Given the description of an element on the screen output the (x, y) to click on. 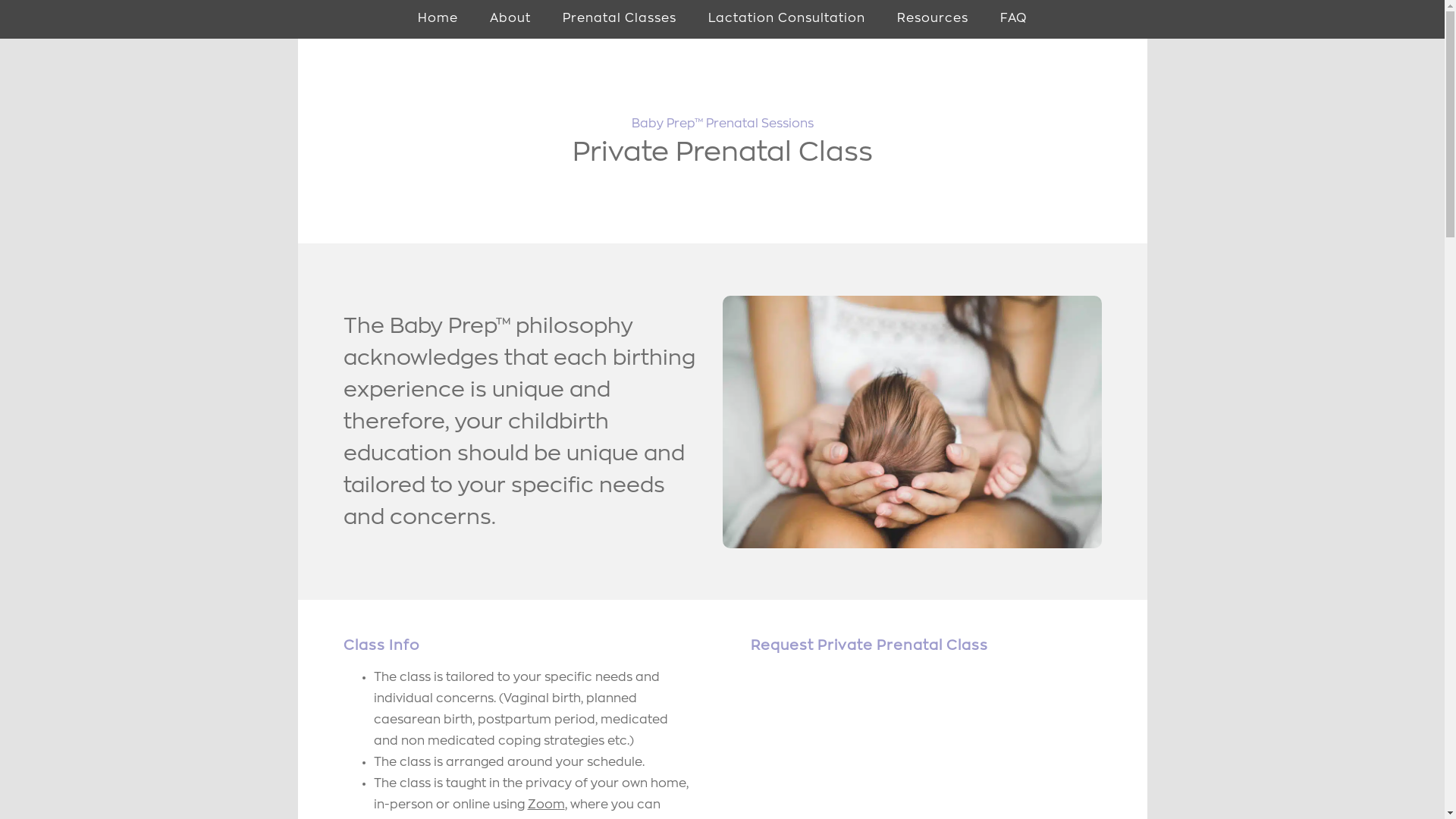
Prenatal Classes Element type: text (619, 19)
Resources Element type: text (932, 19)
About Element type: text (510, 19)
FAQ Element type: text (1013, 19)
Lactation Consultation Element type: text (786, 19)
Home Element type: text (437, 19)
Zoom Element type: text (545, 804)
